Given the description of an element on the screen output the (x, y) to click on. 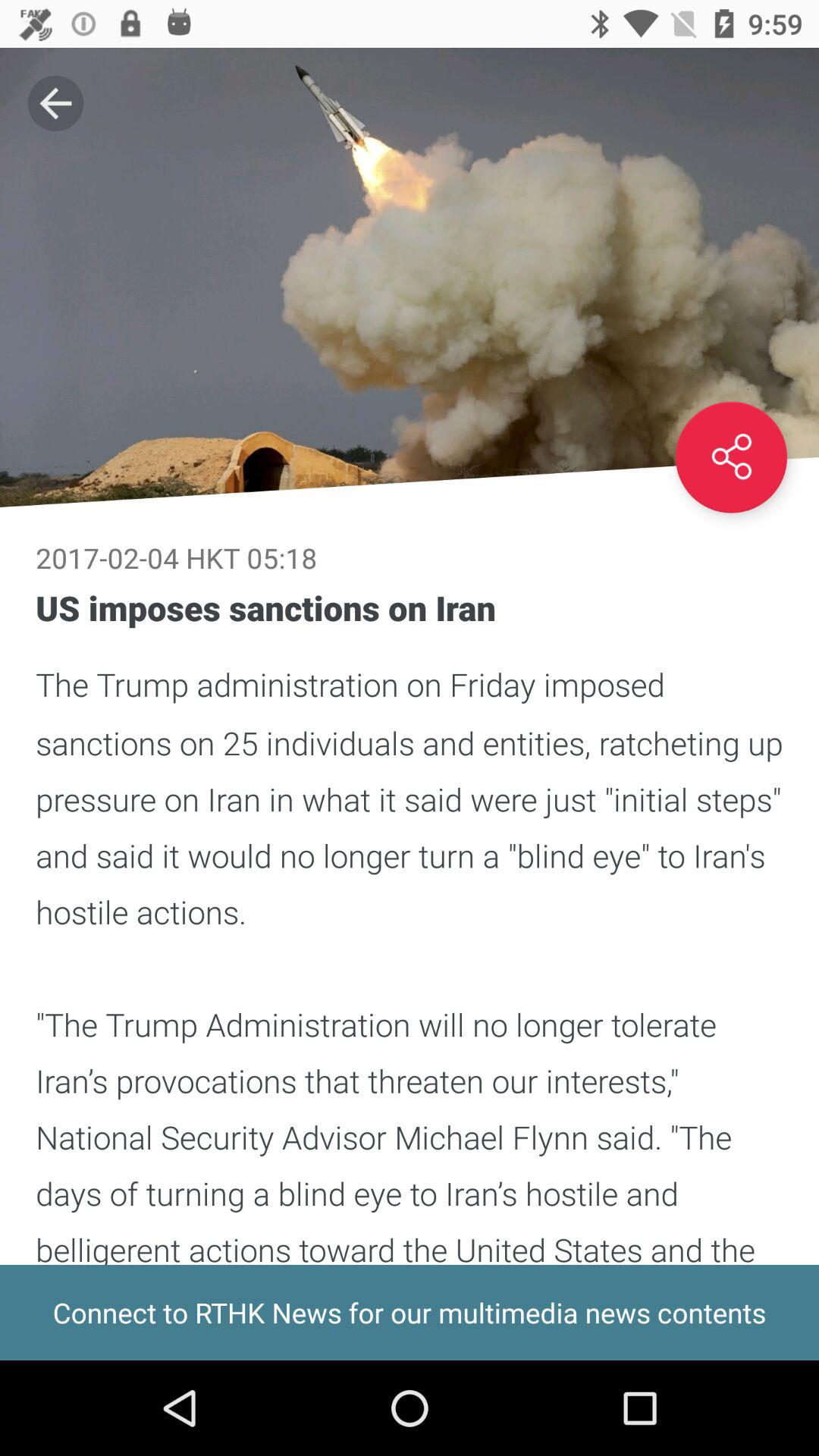
choose the connect to rthk icon (409, 1312)
